Given the description of an element on the screen output the (x, y) to click on. 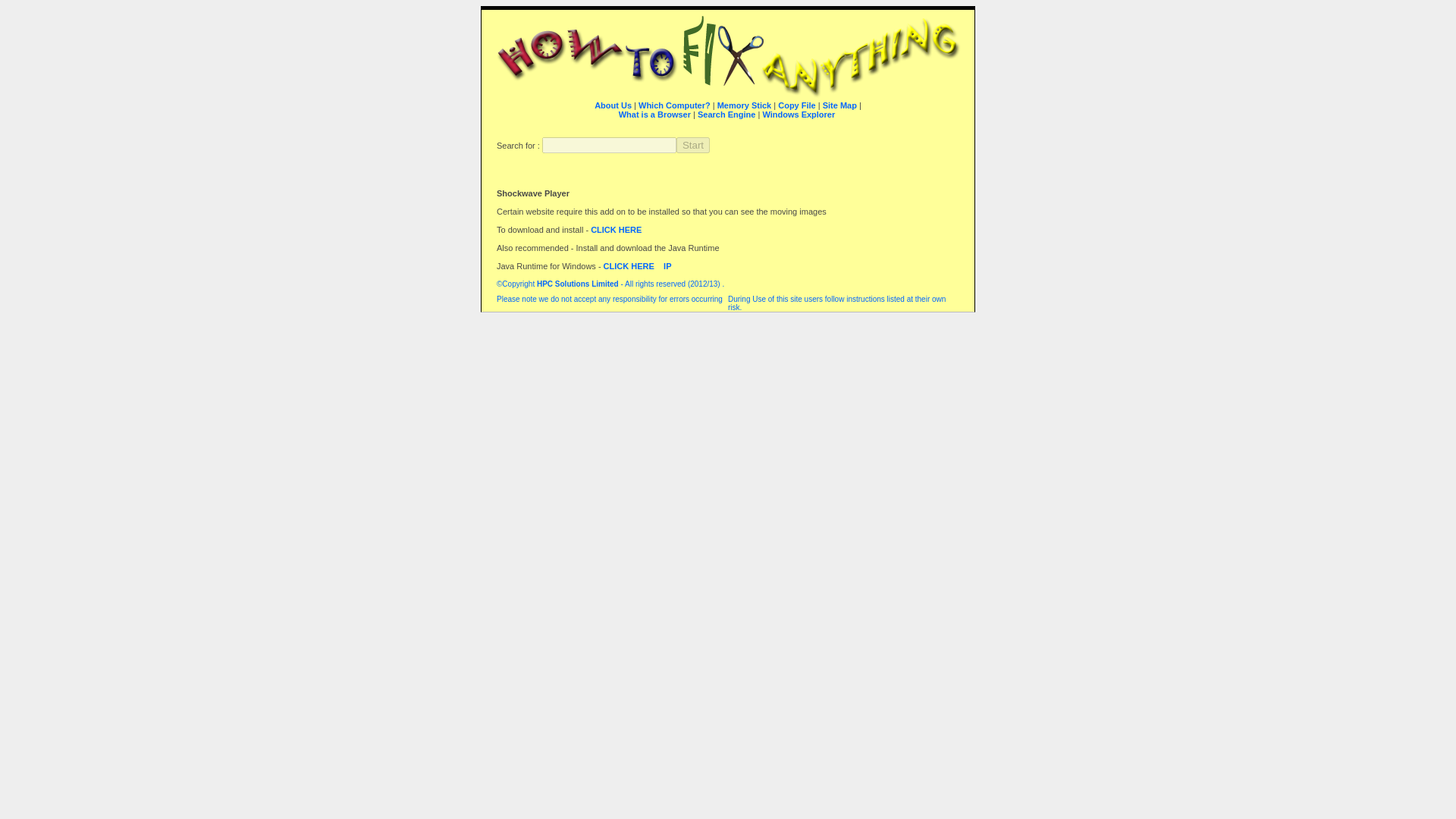
Start (693, 145)
Hints and Tips when buying a computer (674, 104)
Which Computer? (674, 104)
Download Java Runtime for Windows (628, 266)
Copy File (796, 104)
Windows Explorer (797, 113)
CLICK HERE (628, 266)
IP (667, 266)
Site Map (839, 104)
HPC Solutions Limited (577, 284)
What is a search engine? (726, 113)
What is a browser? (740, 118)
Memory Stick (744, 104)
How to copy a file (796, 104)
CLICK HERE (616, 229)
